Given the description of an element on the screen output the (x, y) to click on. 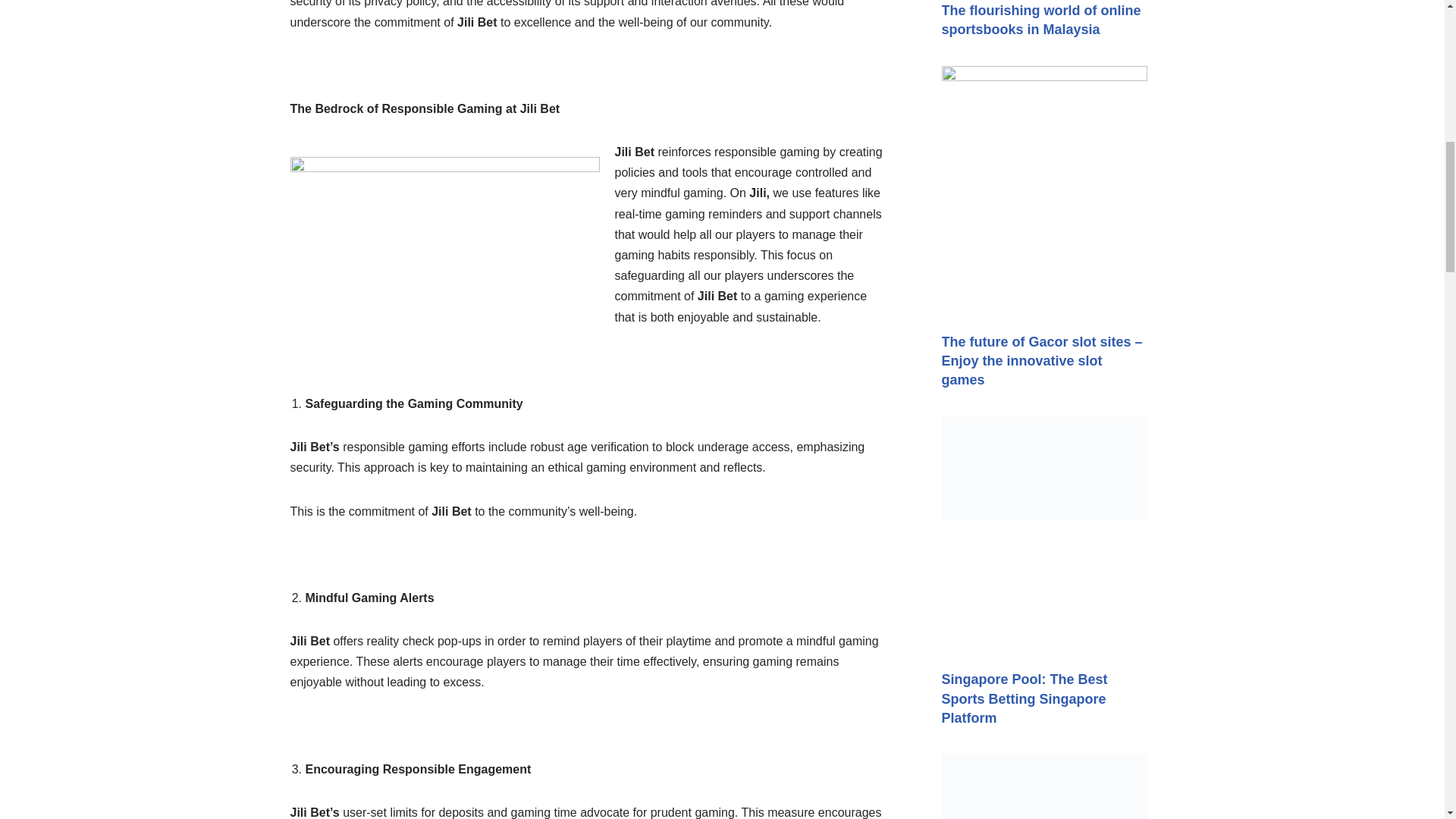
Singapore Pool: The Best Sports Betting Singapore Platform (1025, 697)
The flourishing world of online sportsbooks in Malaysia (1041, 19)
